Given the description of an element on the screen output the (x, y) to click on. 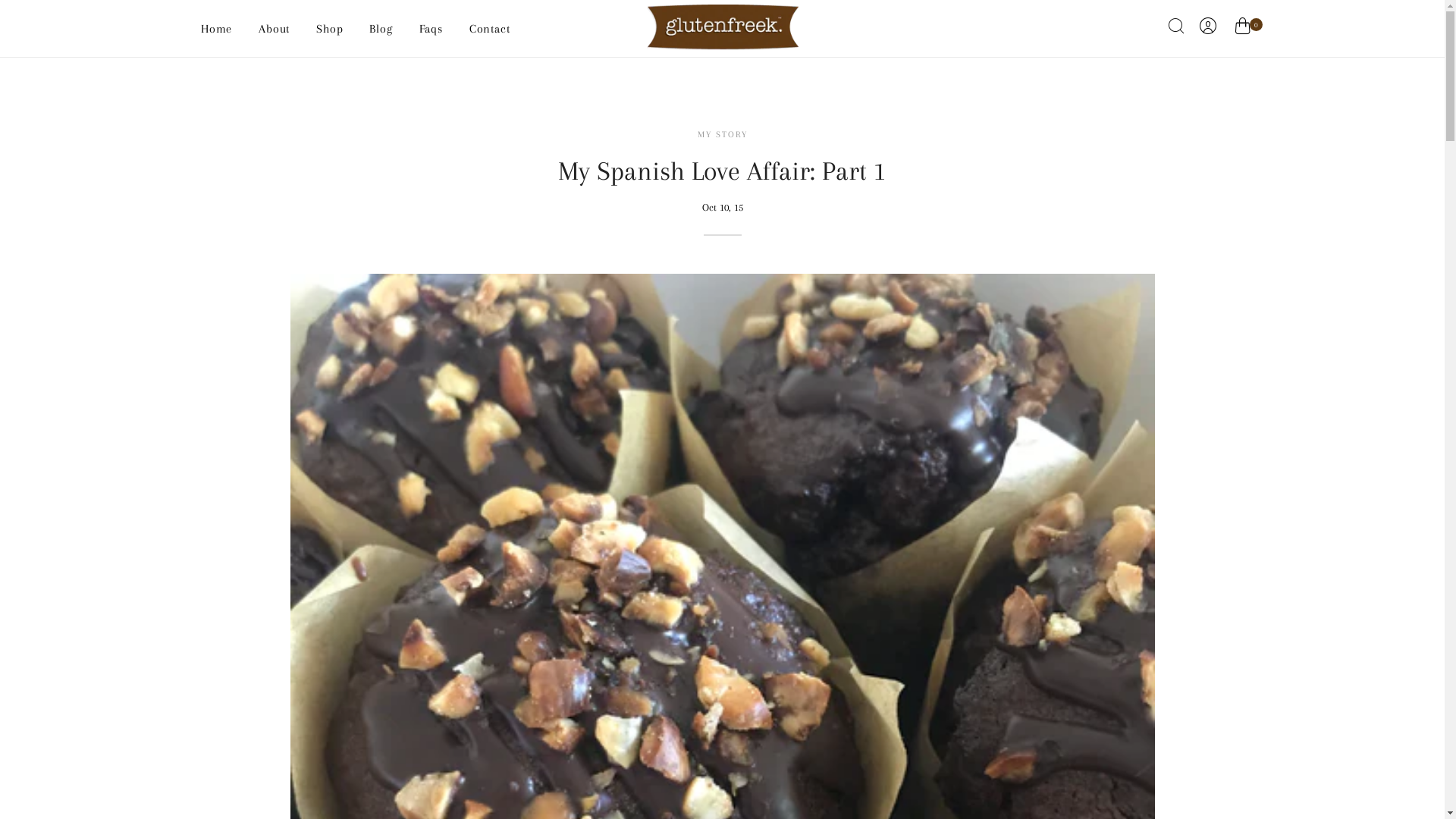
Contact Element type: text (489, 28)
Home Element type: text (216, 28)
Faqs Element type: text (430, 28)
MY STORY Element type: text (722, 134)
Blog Element type: text (380, 28)
0 Element type: text (1241, 27)
About Element type: text (274, 28)
Shop Element type: text (329, 28)
